Given the description of an element on the screen output the (x, y) to click on. 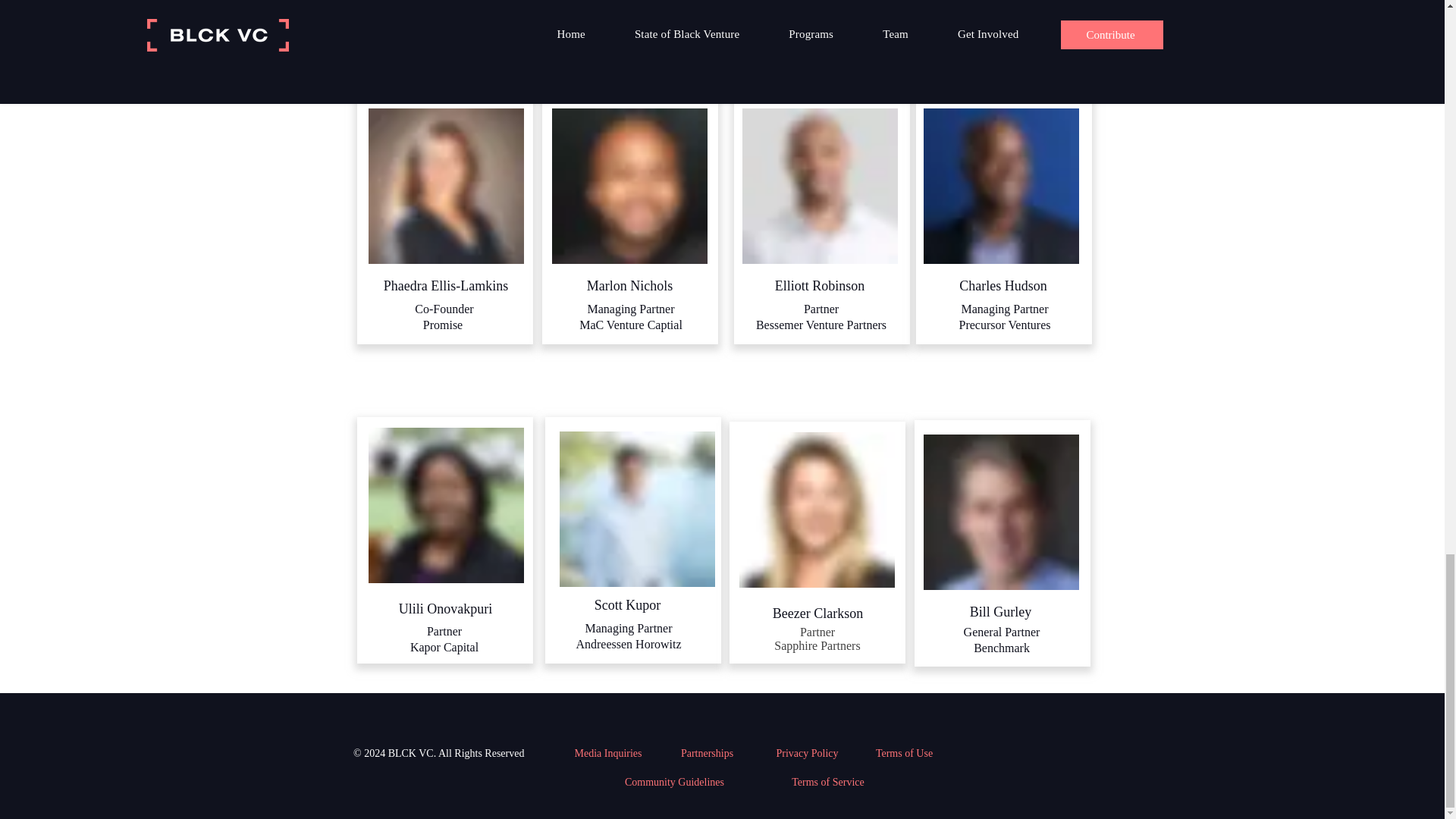
Privacy Policy (807, 753)
Terms of Service (828, 782)
Media Inquiries (609, 753)
Community Guidelines (676, 782)
Partnerships (708, 753)
Terms of Use (905, 753)
